Given the description of an element on the screen output the (x, y) to click on. 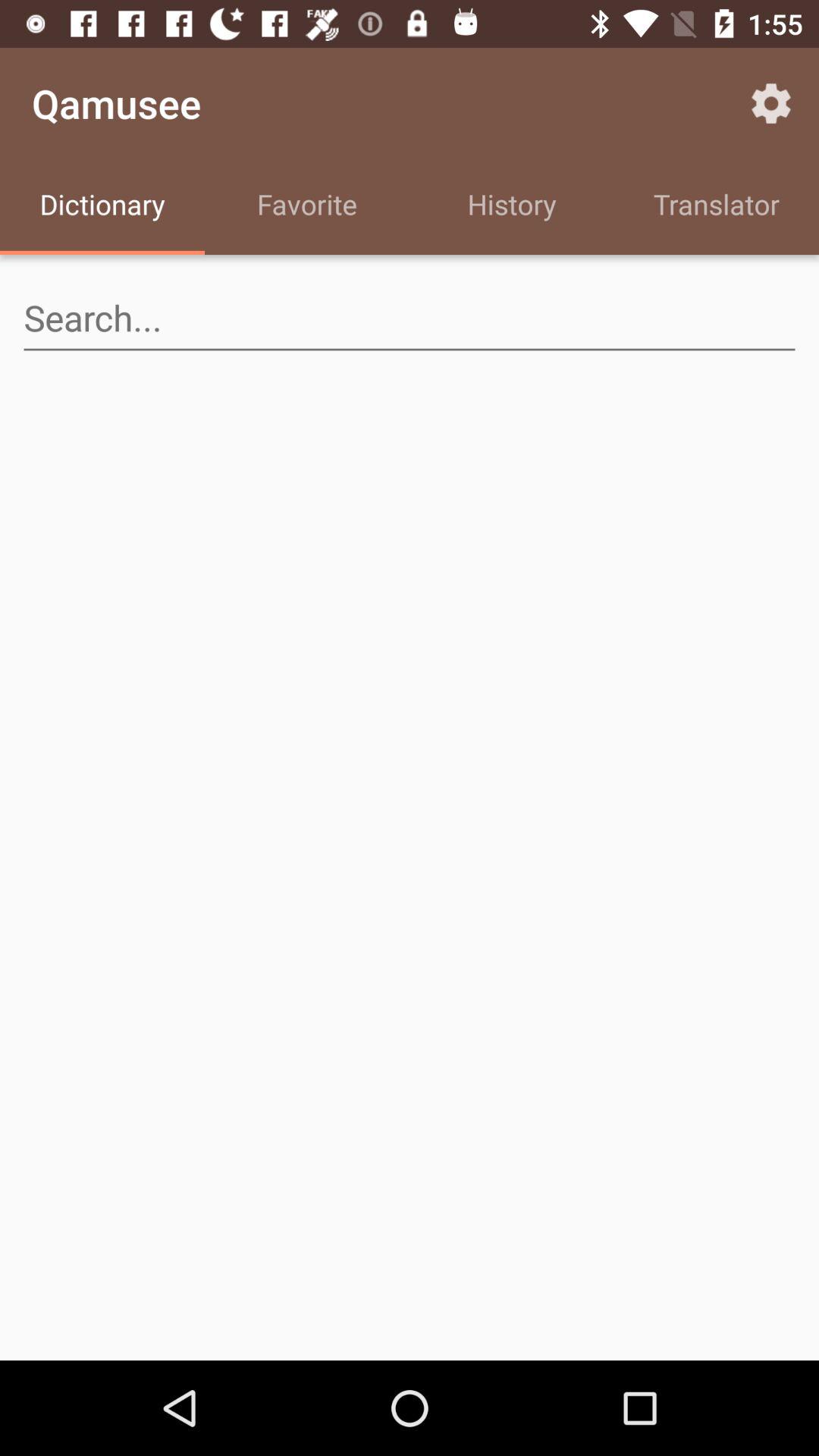
tap icon next to the favorite item (511, 206)
